Given the description of an element on the screen output the (x, y) to click on. 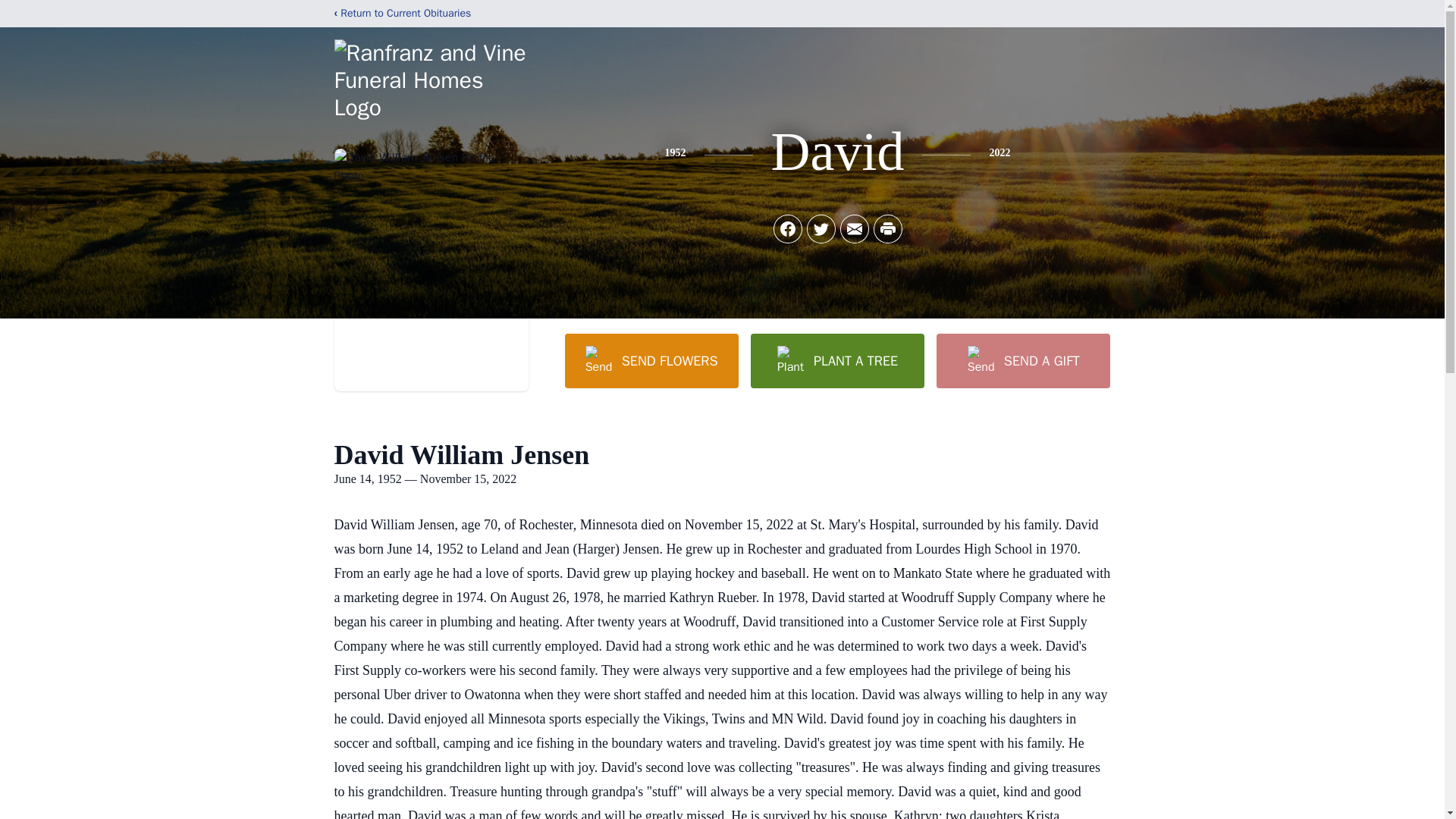
SEND A GIFT (1022, 360)
SEND FLOWERS (651, 360)
PLANT A TREE (837, 360)
